Given the description of an element on the screen output the (x, y) to click on. 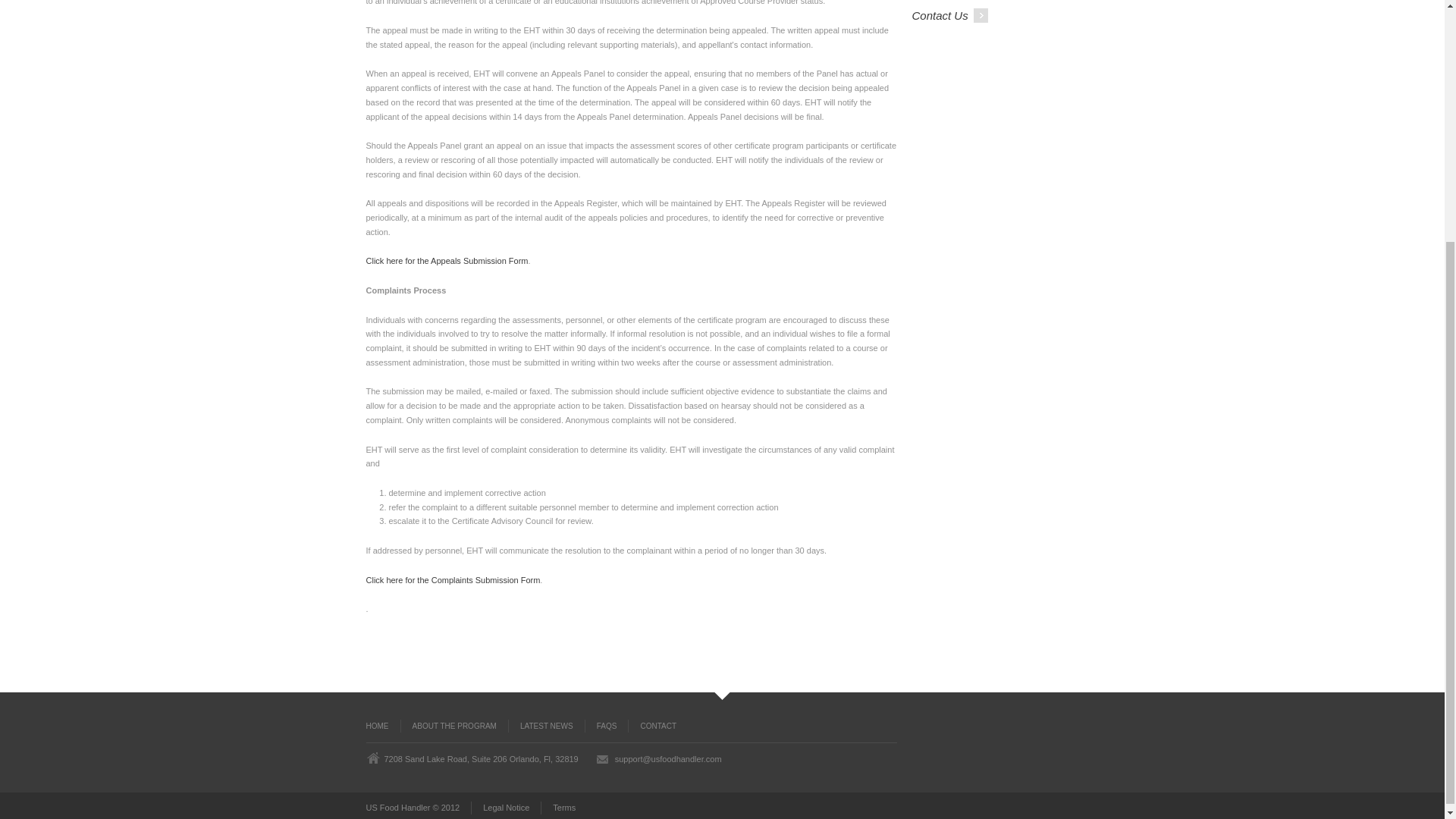
Click here for the Complaints Submission Form (452, 579)
Legal Notice (505, 807)
ABOUT THE PROGRAM (454, 725)
FAQS (606, 725)
LATEST NEWS (546, 725)
Terms (557, 807)
CONTACT (652, 725)
Click here for the Appeals Submission Form (446, 260)
HOME (381, 725)
